Given the description of an element on the screen output the (x, y) to click on. 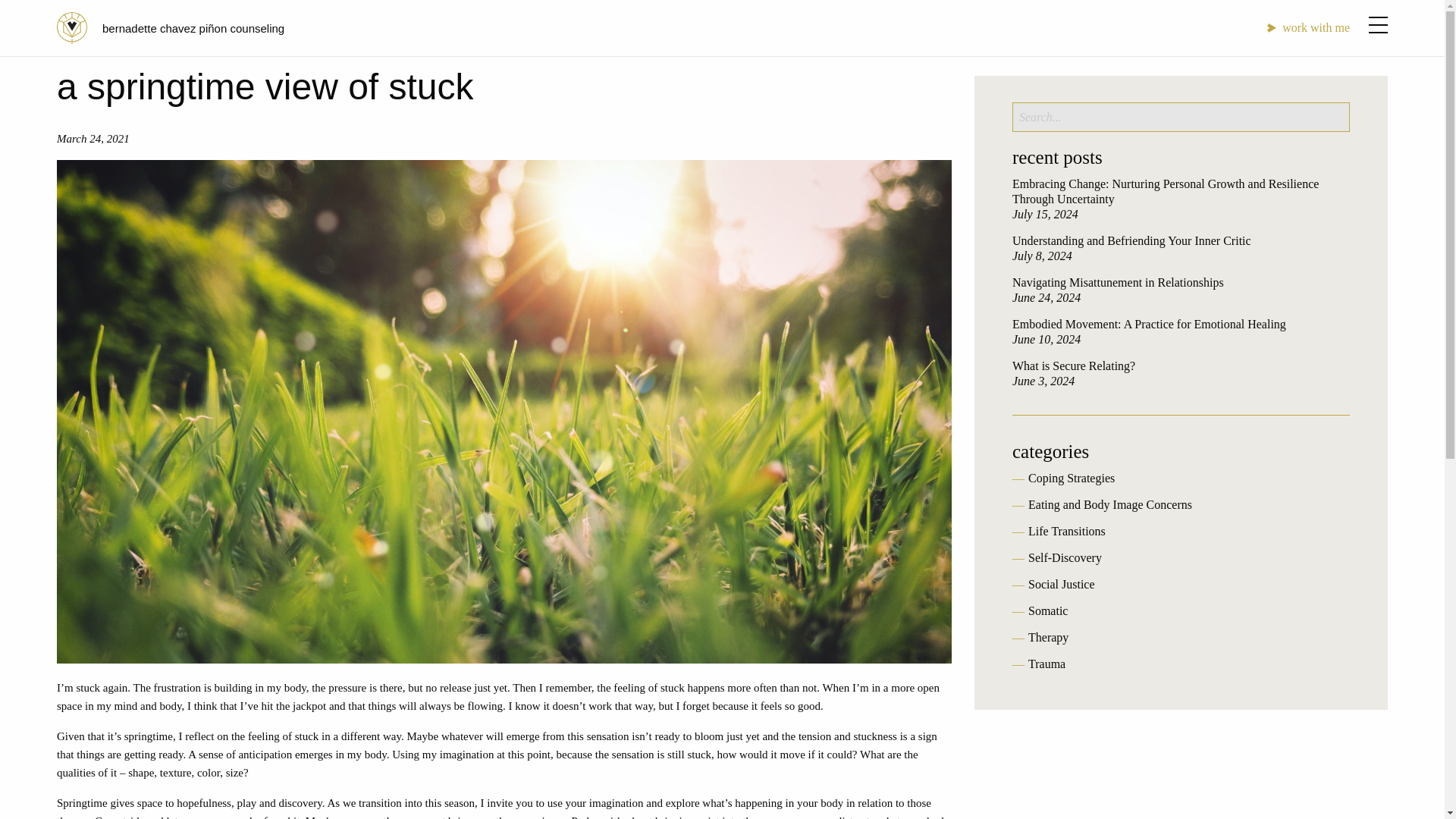
Trauma (1046, 663)
Social Justice (1060, 584)
Life Transitions (1066, 530)
  work with me (1307, 27)
Therapy (1047, 636)
Search (33, 15)
What is Secure Relating? (1073, 365)
Coping Strategies (1071, 477)
Embodied Movement: A Practice for Emotional Healing (1148, 323)
Eating and Body Image Concerns (1109, 504)
Search for: (1180, 116)
Self-Discovery (1064, 557)
Navigating Misattunement in Relationships (1117, 282)
Somatic (1047, 610)
